Given the description of an element on the screen output the (x, y) to click on. 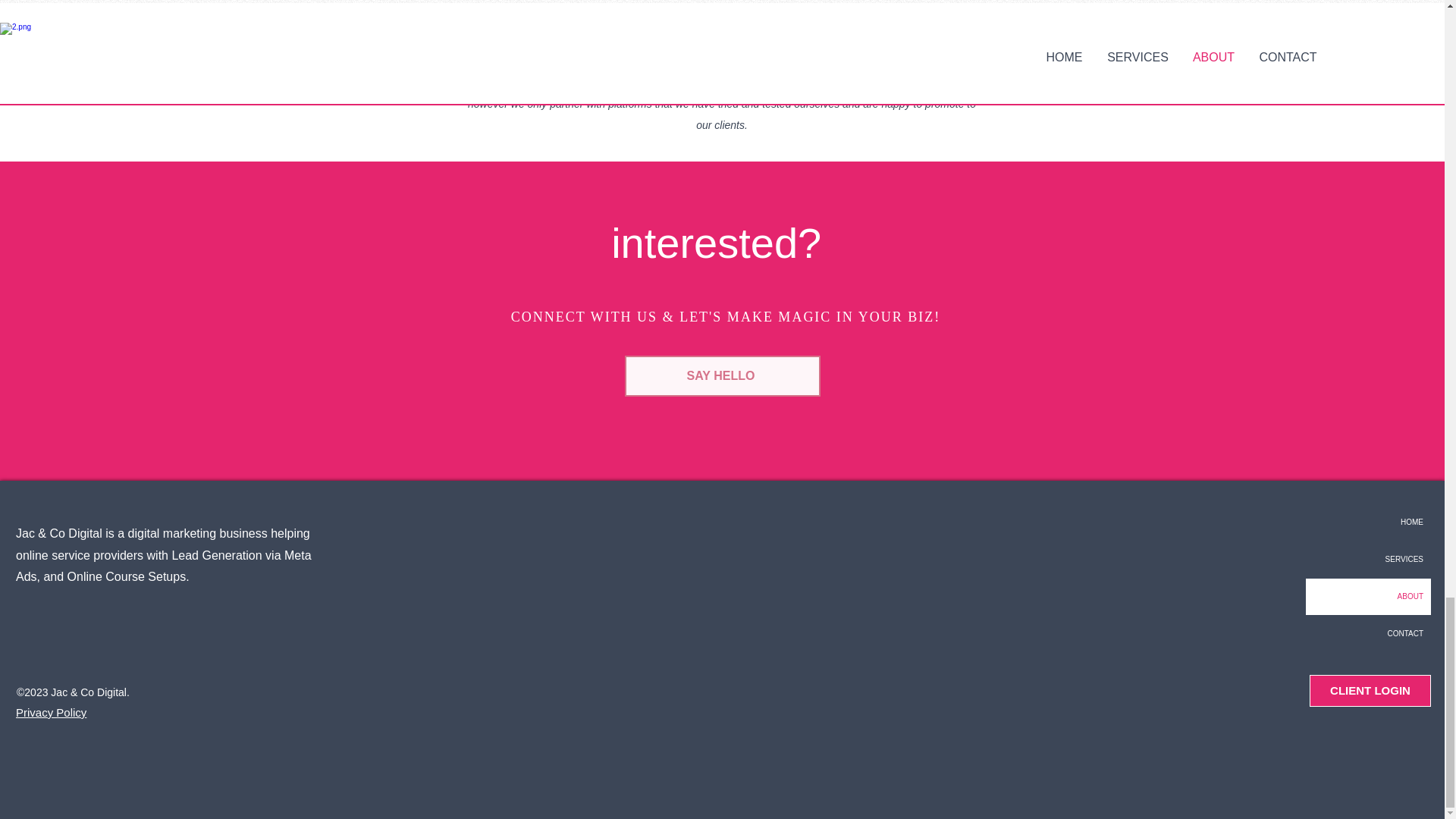
SERVICES (1368, 559)
SAY HELLO (722, 375)
ABOUT (1368, 596)
HOME (1368, 522)
CLIENT LOGIN (1369, 690)
Privacy Policy (50, 712)
CONTACT (1368, 633)
